Given the description of an element on the screen output the (x, y) to click on. 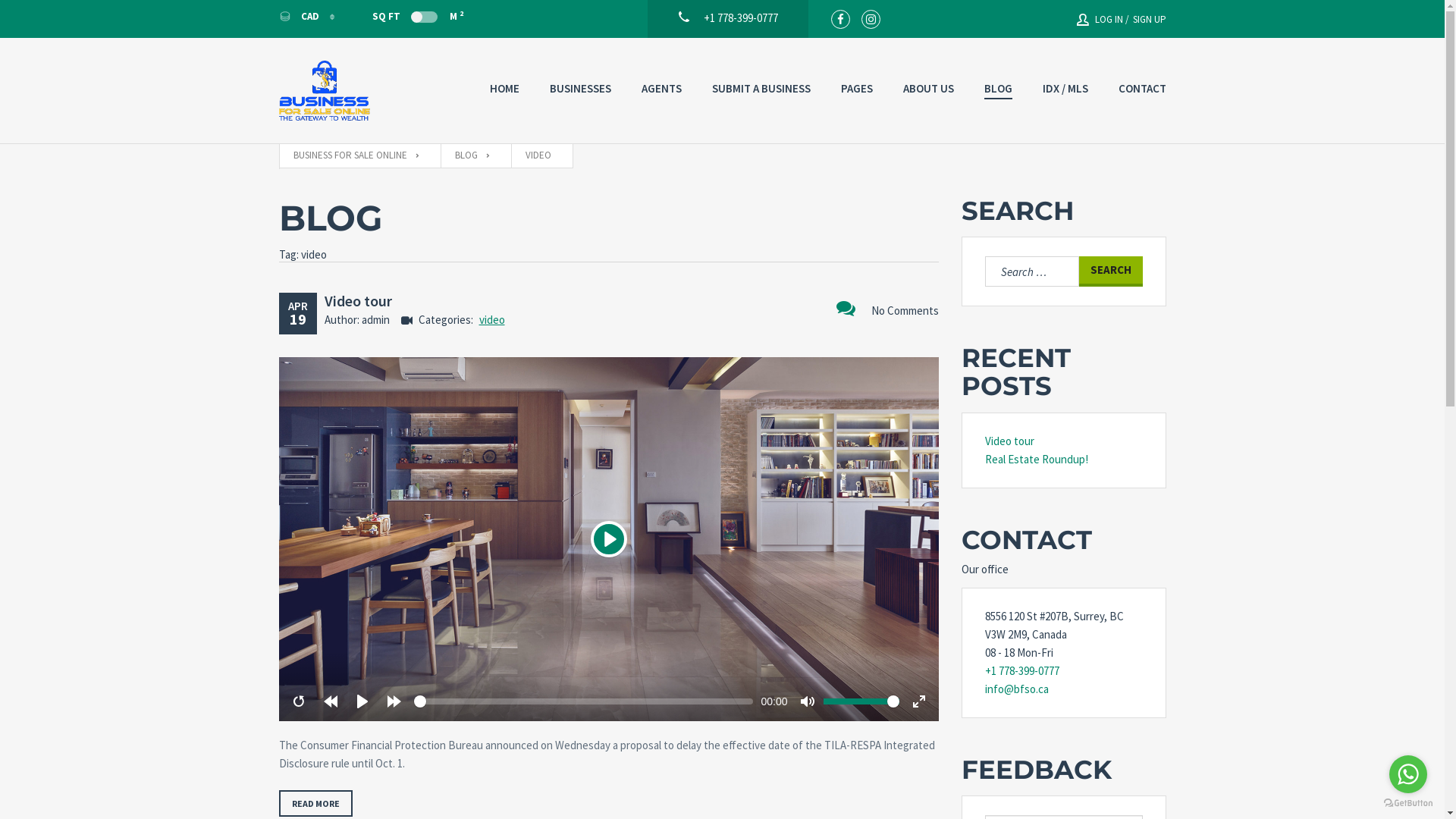
CONTACT Element type: text (1141, 88)
video Element type: text (492, 319)
Business For Sale Online Element type: hover (324, 90)
Search Element type: text (1110, 271)
No Comments Element type: text (886, 309)
+1 778-399-0777 Element type: text (727, 11)
PAGES Element type: text (856, 88)
AGENTS Element type: text (661, 88)
HOME Element type: text (504, 88)
LOG IN / Element type: text (1102, 19)
SUBMIT A BUSINESS Element type: text (760, 88)
Toggle Mute Element type: text (806, 701)
BLOG Element type: text (998, 88)
Video tour Element type: text (358, 300)
Video tour Element type: text (1008, 440)
Toggle Fullscreen Element type: text (918, 701)
CAD Element type: text (306, 17)
BUSINESSES Element type: text (579, 88)
BLOG Element type: text (472, 155)
info@bfso.ca Element type: text (1063, 689)
Forward 10 secs Element type: text (394, 701)
Play Element type: text (607, 538)
ABOUT US Element type: text (927, 88)
+1 778-399-0777 Element type: text (1063, 671)
IDX / MLS Element type: text (1064, 88)
SIGN UP Element type: text (1146, 20)
BUSINESS FOR SALE ONLINE Element type: text (355, 155)
Restart Element type: text (298, 701)
Play Element type: text (362, 701)
READ MORE Element type: text (315, 803)
Real Estate Roundup! Element type: text (1035, 458)
Rewind 10 secs Element type: text (330, 701)
